Given the description of an element on the screen output the (x, y) to click on. 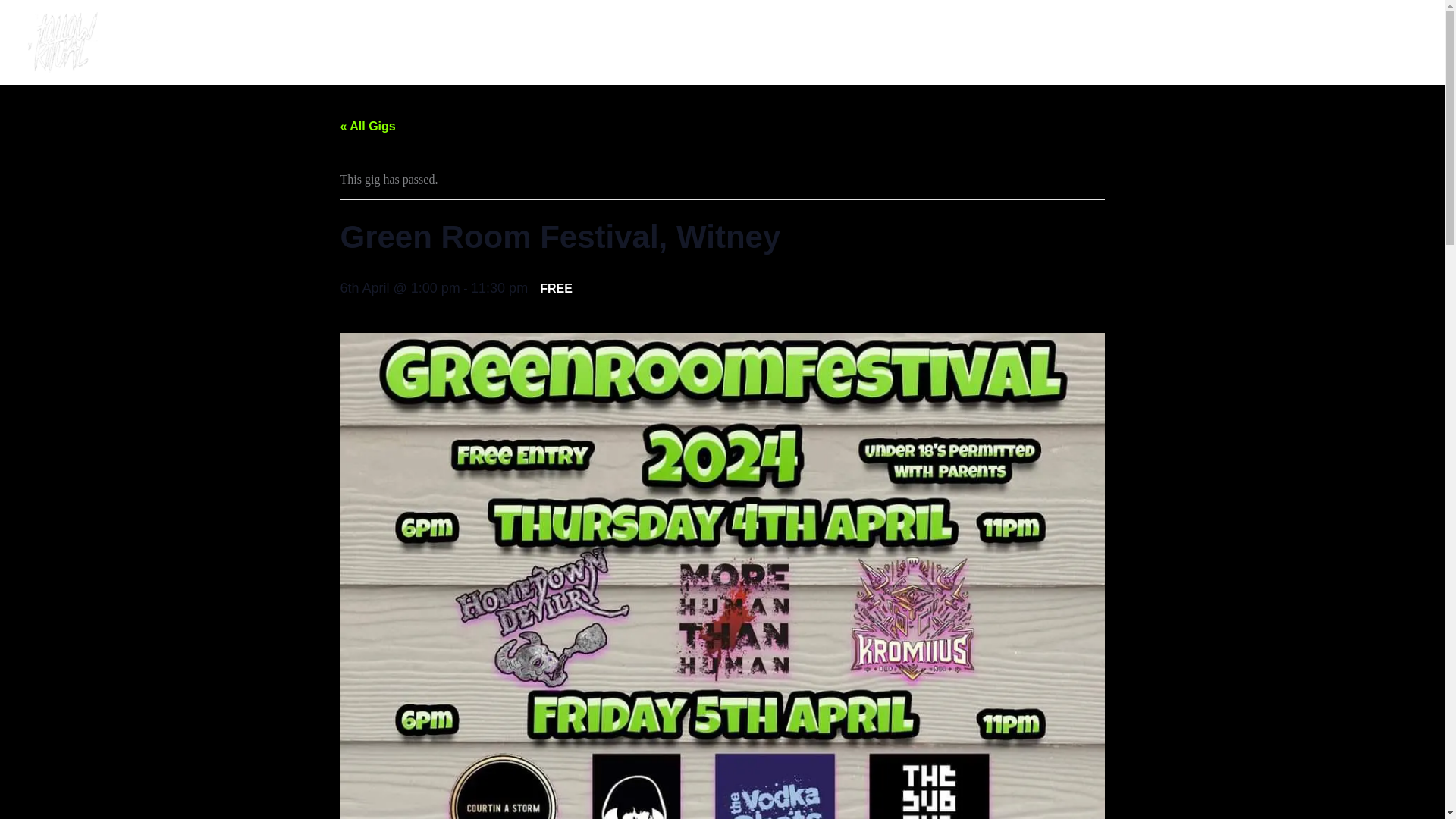
Gallery (731, 41)
FREE DOWNLOAD (573, 41)
About (794, 41)
Gigs (671, 41)
Listen (855, 41)
Book (913, 41)
